Given the description of an element on the screen output the (x, y) to click on. 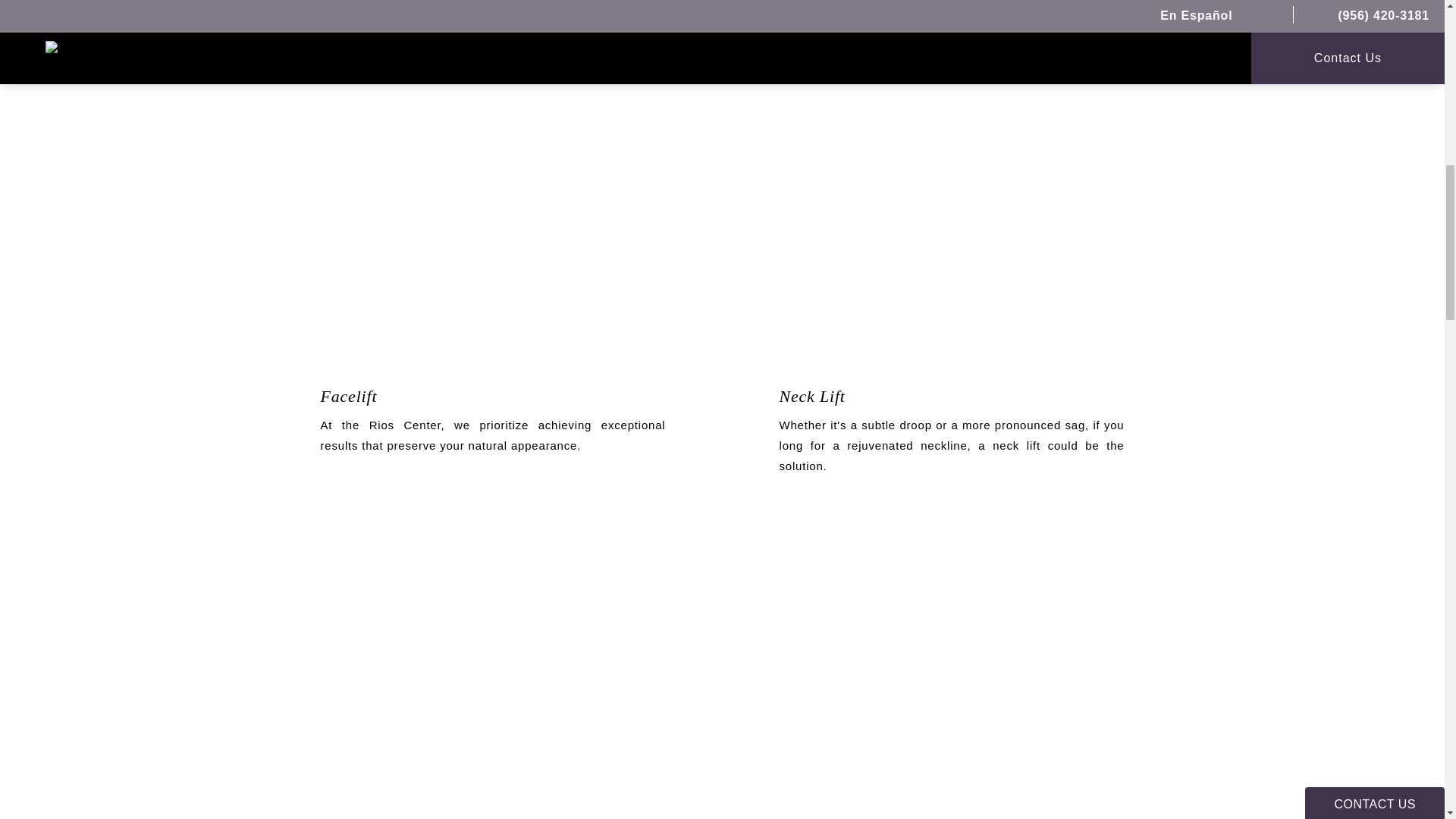
Opens Ear Surgery page (492, 694)
Opens Neck Lift page (951, 396)
Opens Facelift page (492, 396)
Opens Blepharoplasty page (951, 694)
